Given the description of an element on the screen output the (x, y) to click on. 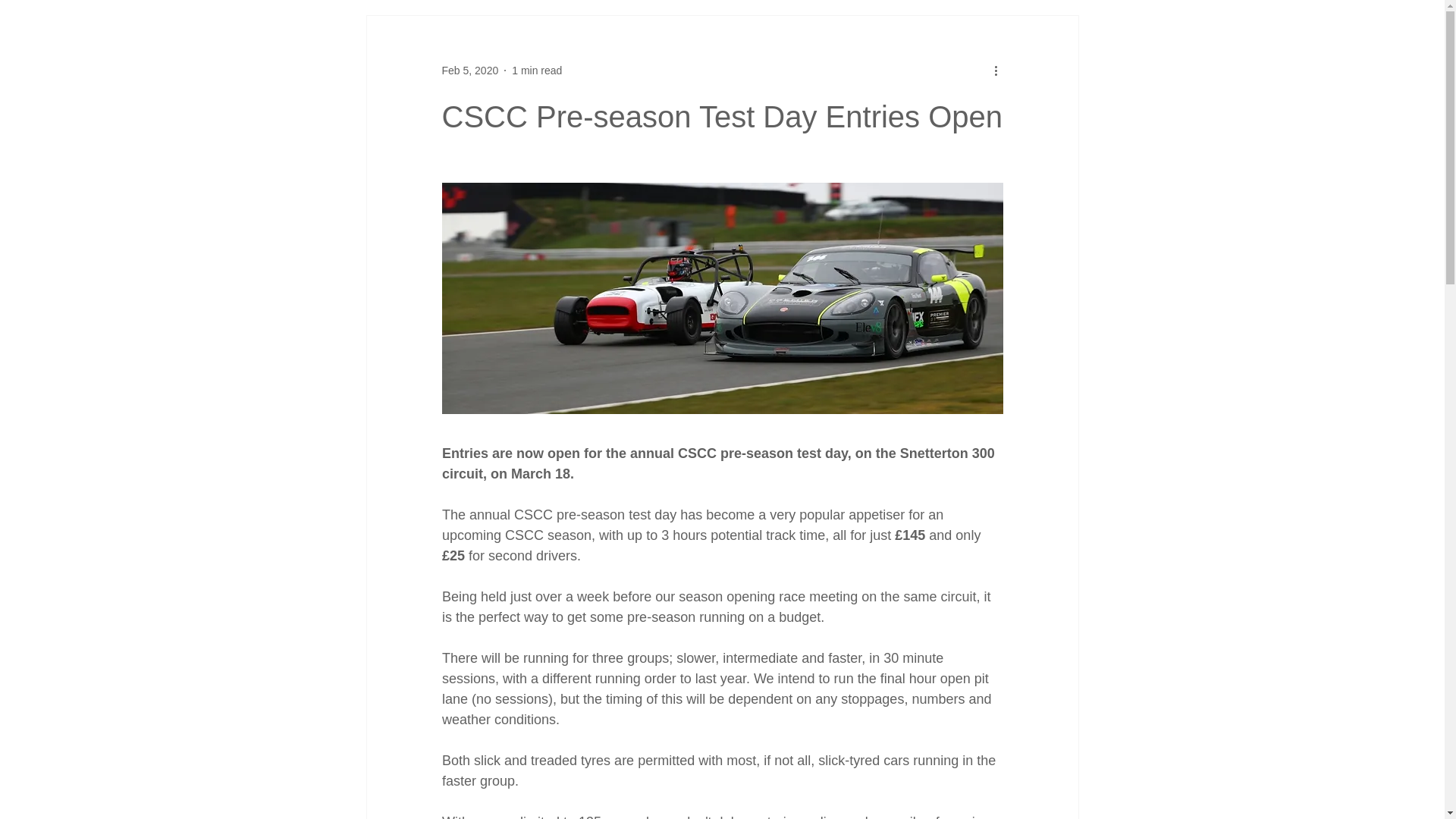
Feb 5, 2020 (469, 69)
1 min read (537, 69)
